Given the description of an element on the screen output the (x, y) to click on. 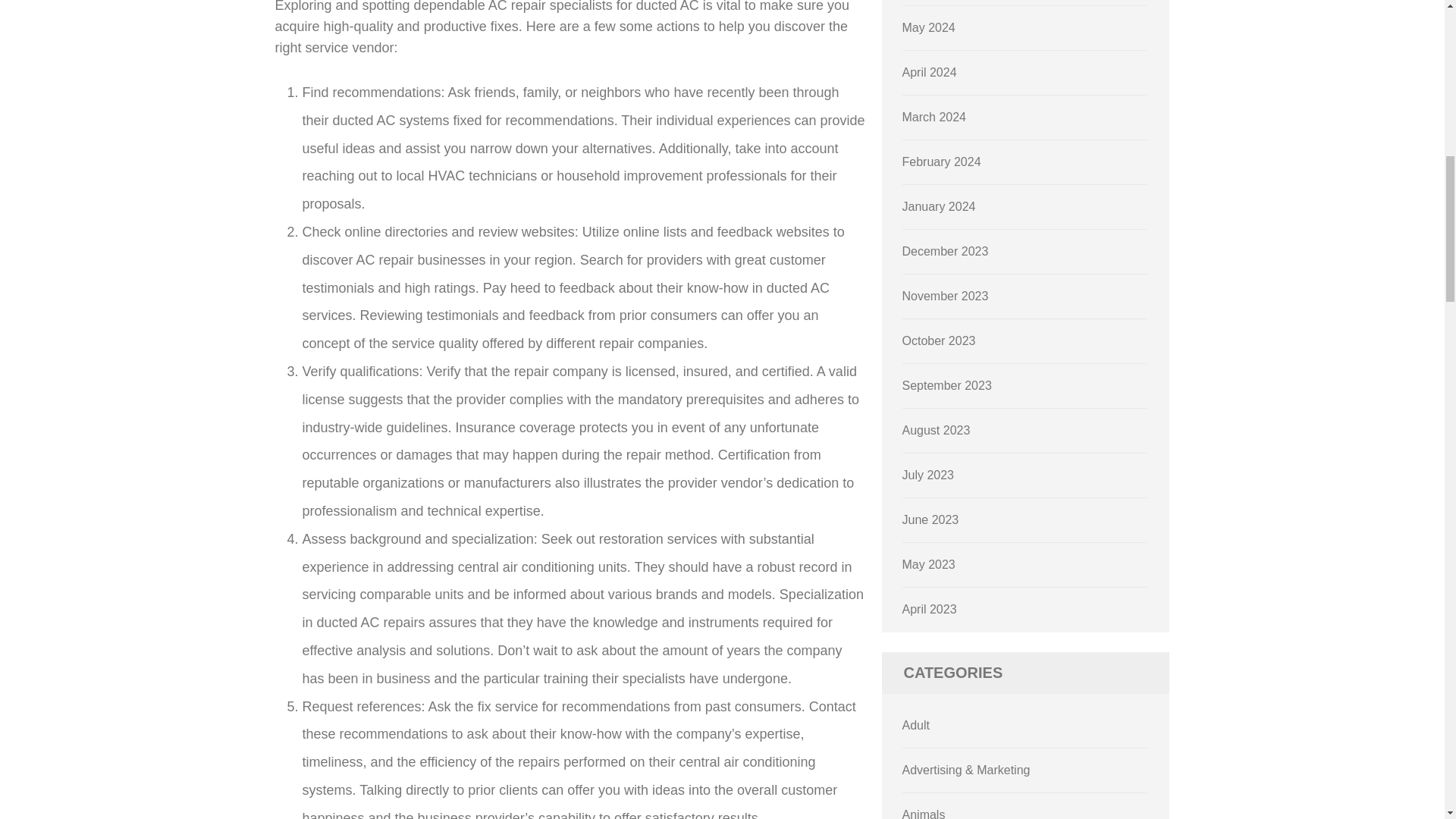
January 2024 (938, 205)
July 2023 (928, 474)
April 2023 (929, 608)
October 2023 (938, 340)
May 2023 (928, 563)
May 2024 (928, 27)
February 2024 (941, 161)
September 2023 (946, 385)
March 2024 (934, 116)
August 2023 (936, 430)
